Given the description of an element on the screen output the (x, y) to click on. 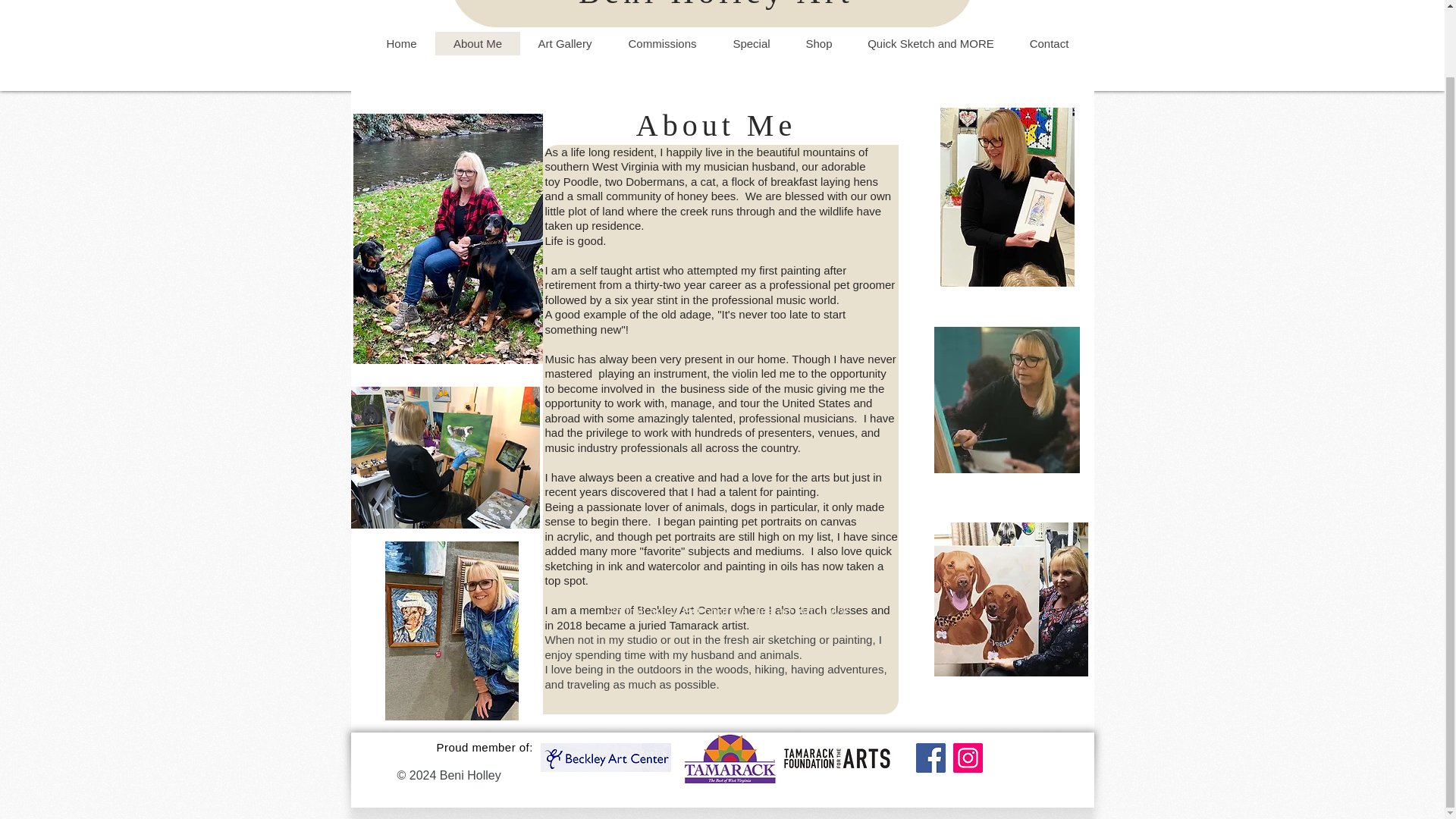
Home (401, 43)
Art Gallery (564, 43)
Quick Sketch and MORE (929, 43)
Shop (817, 43)
Commissions (662, 43)
About Me (477, 43)
Special (750, 43)
Contact (1048, 43)
